Given the description of an element on the screen output the (x, y) to click on. 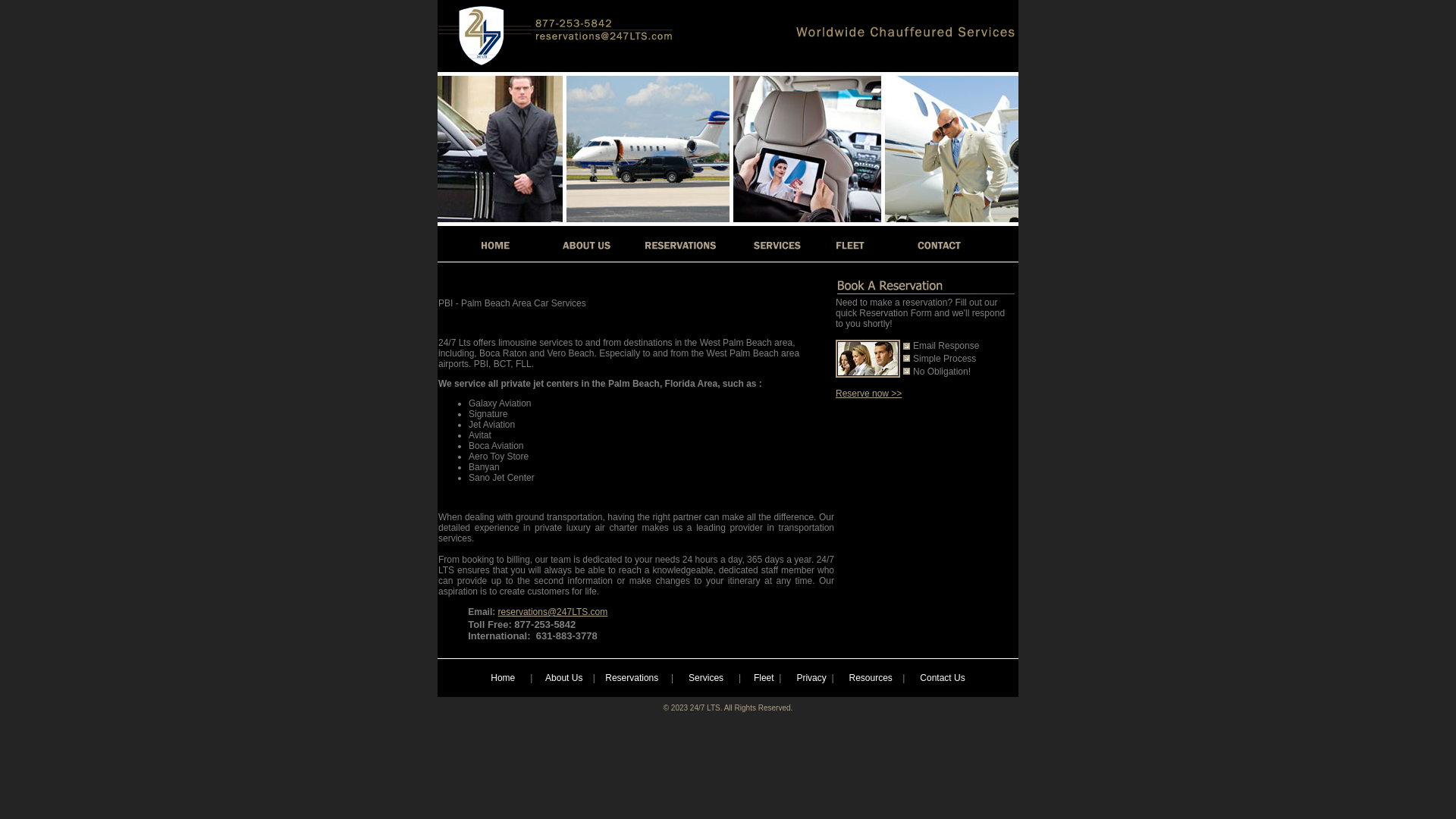
Contact Us Element type: text (941, 677)
Reservations Element type: text (631, 677)
Home Element type: text (502, 677)
reservations@247LTS.com Element type: text (553, 611)
Fleet Element type: text (763, 677)
Services Element type: text (705, 677)
About Us Element type: text (563, 677)
Reserve now >> Element type: text (868, 393)
Resources Element type: text (870, 677)
Privacy Element type: text (810, 677)
